Given the description of an element on the screen output the (x, y) to click on. 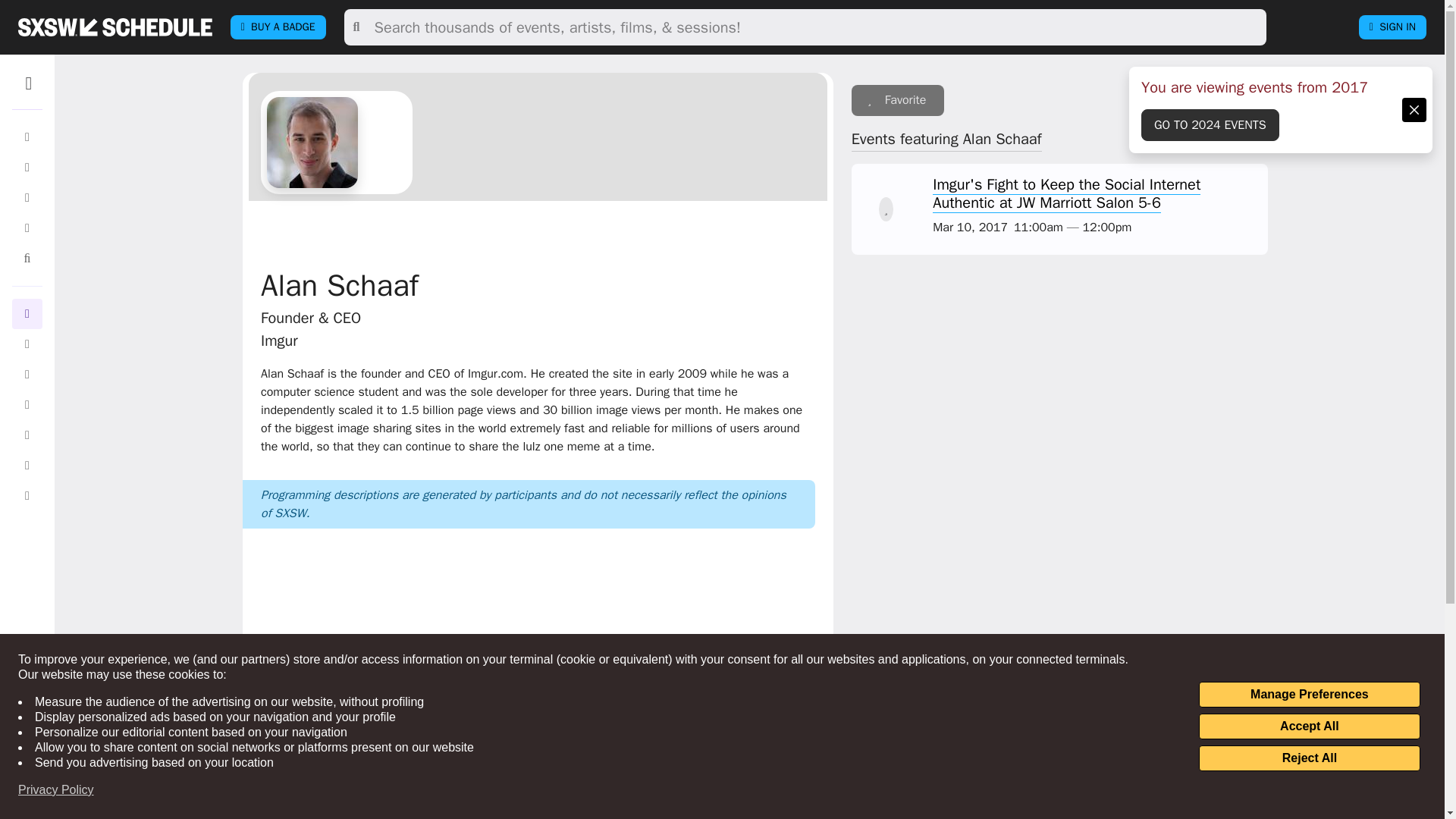
sxsw SCHEDULE (114, 27)
BUY A BADGE (278, 27)
Accept All (1309, 726)
Manage Preferences (1309, 694)
Sign In to add to your favorites. (897, 100)
Privacy Policy (55, 789)
GO TO 2024 EVENTS (1210, 124)
Reject All (1309, 758)
SIGN IN (1392, 27)
